Given the description of an element on the screen output the (x, y) to click on. 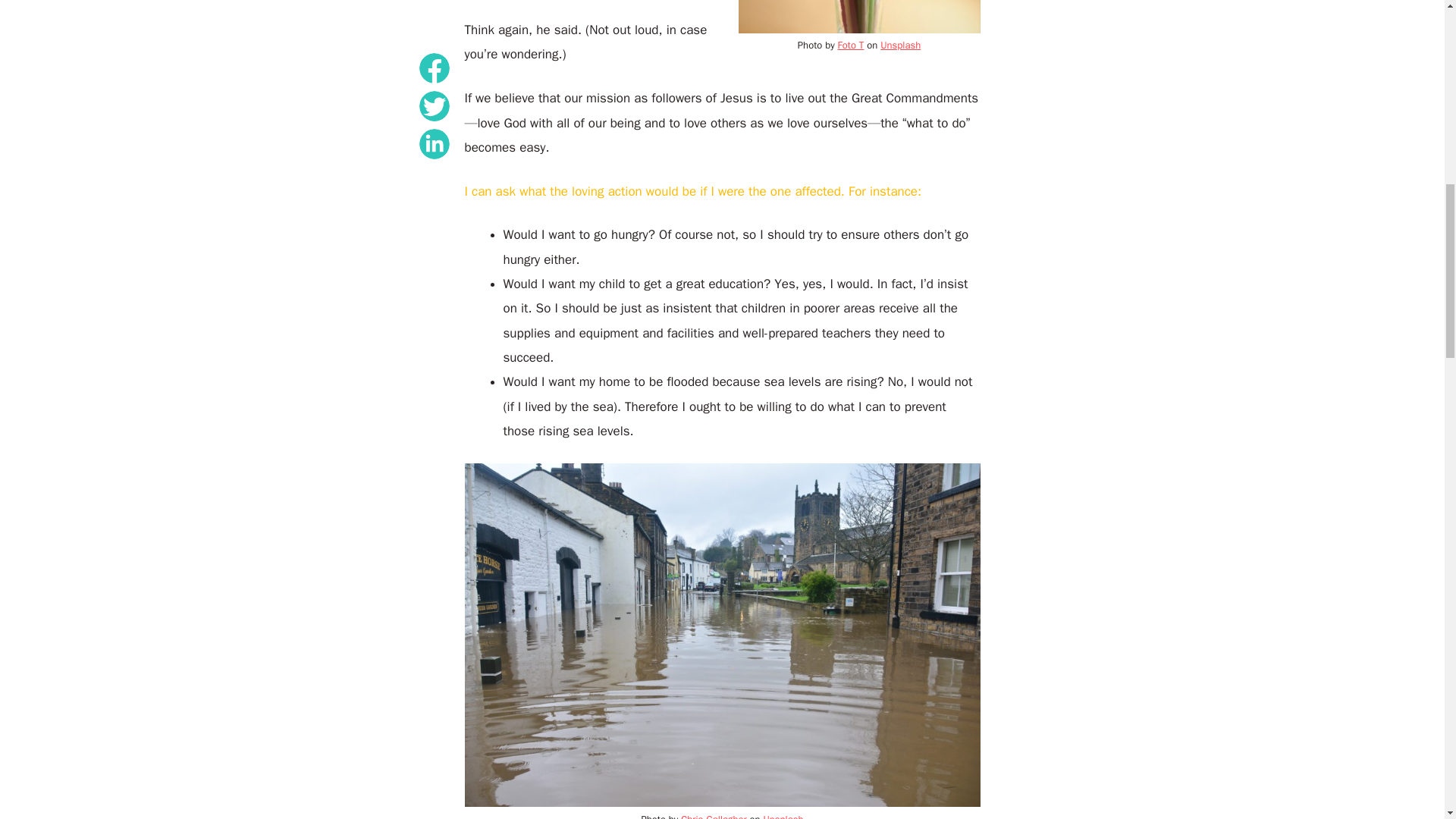
Unsplash (900, 44)
Foto T (851, 44)
Chris Gallagher (713, 816)
Unsplash (782, 816)
